Given the description of an element on the screen output the (x, y) to click on. 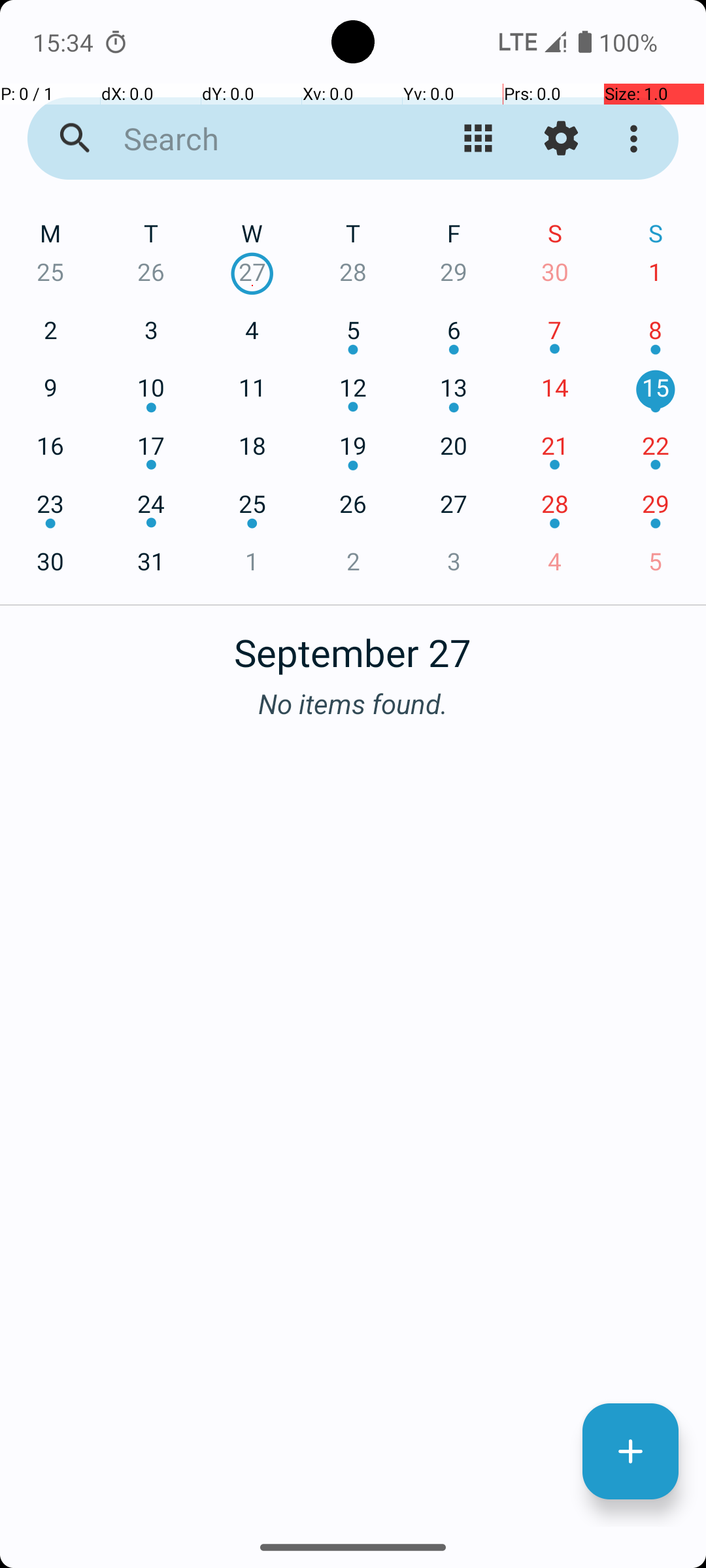
September 27 Element type: android.widget.TextView (352, 644)
